Given the description of an element on the screen output the (x, y) to click on. 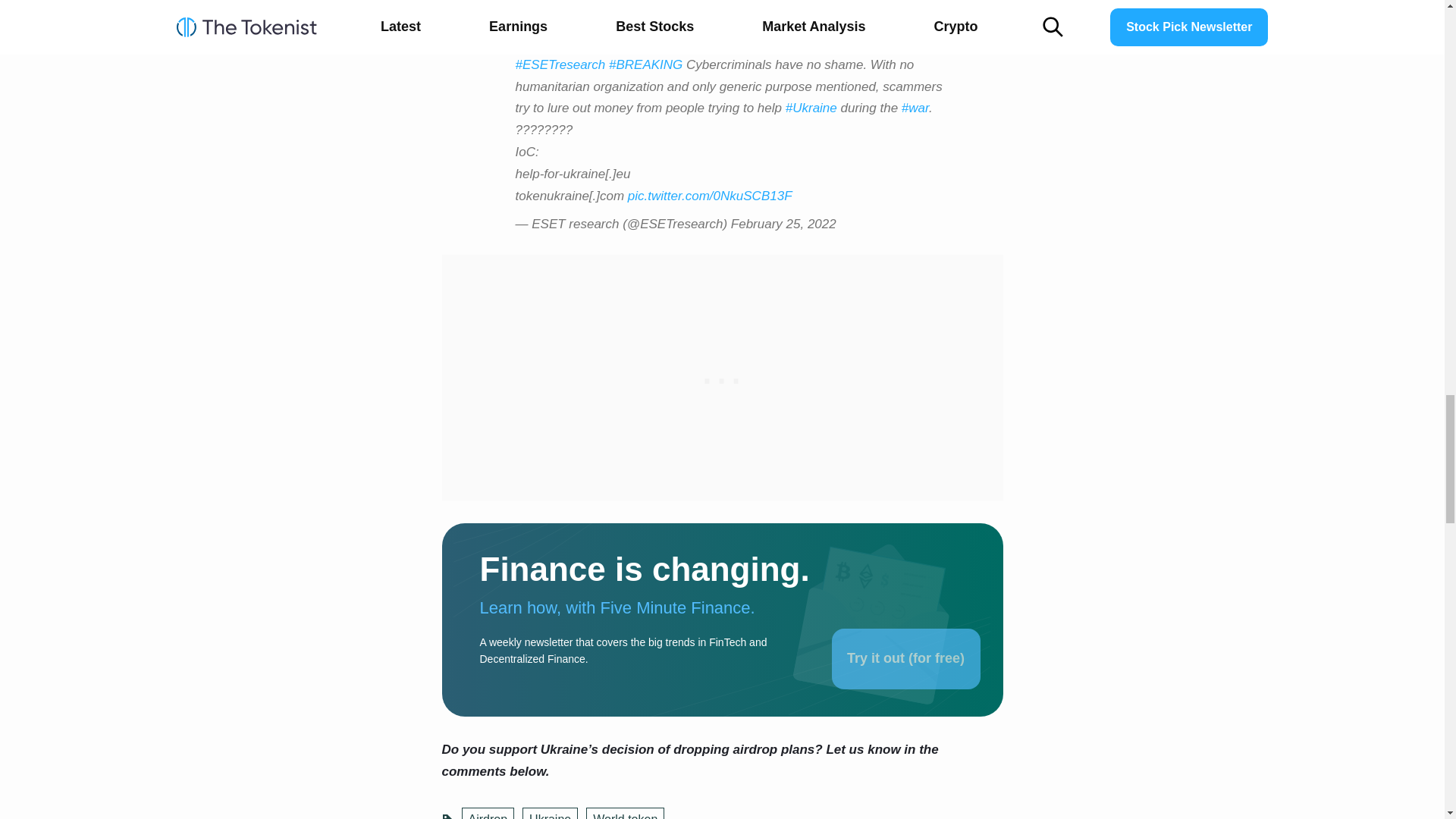
February 25, 2022 (782, 223)
Airdrop (487, 813)
World token (624, 813)
Ukraine (550, 813)
